Given the description of an element on the screen output the (x, y) to click on. 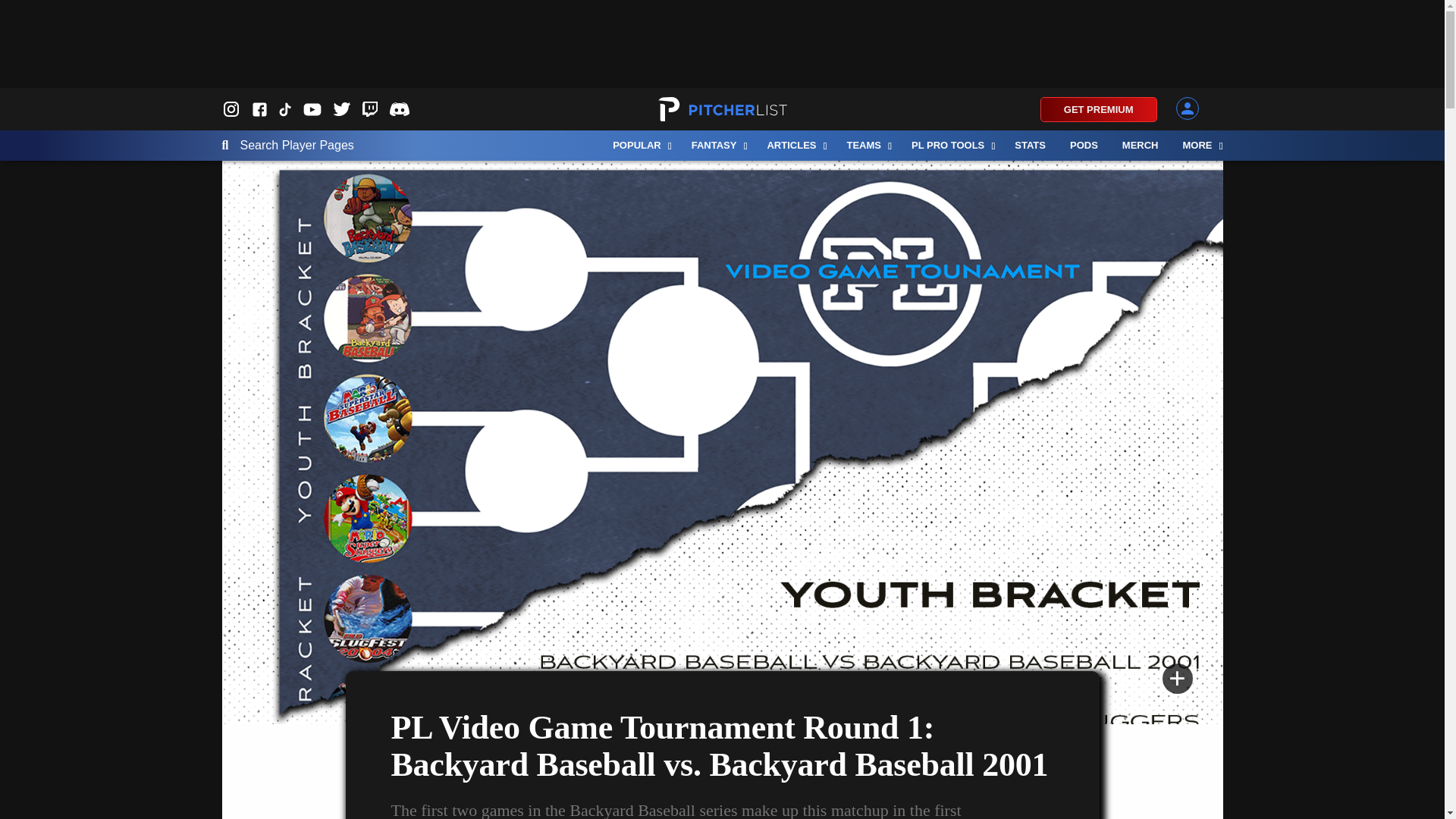
GET PREMIUM (1099, 109)
FANTASY (717, 145)
